Given the description of an element on the screen output the (x, y) to click on. 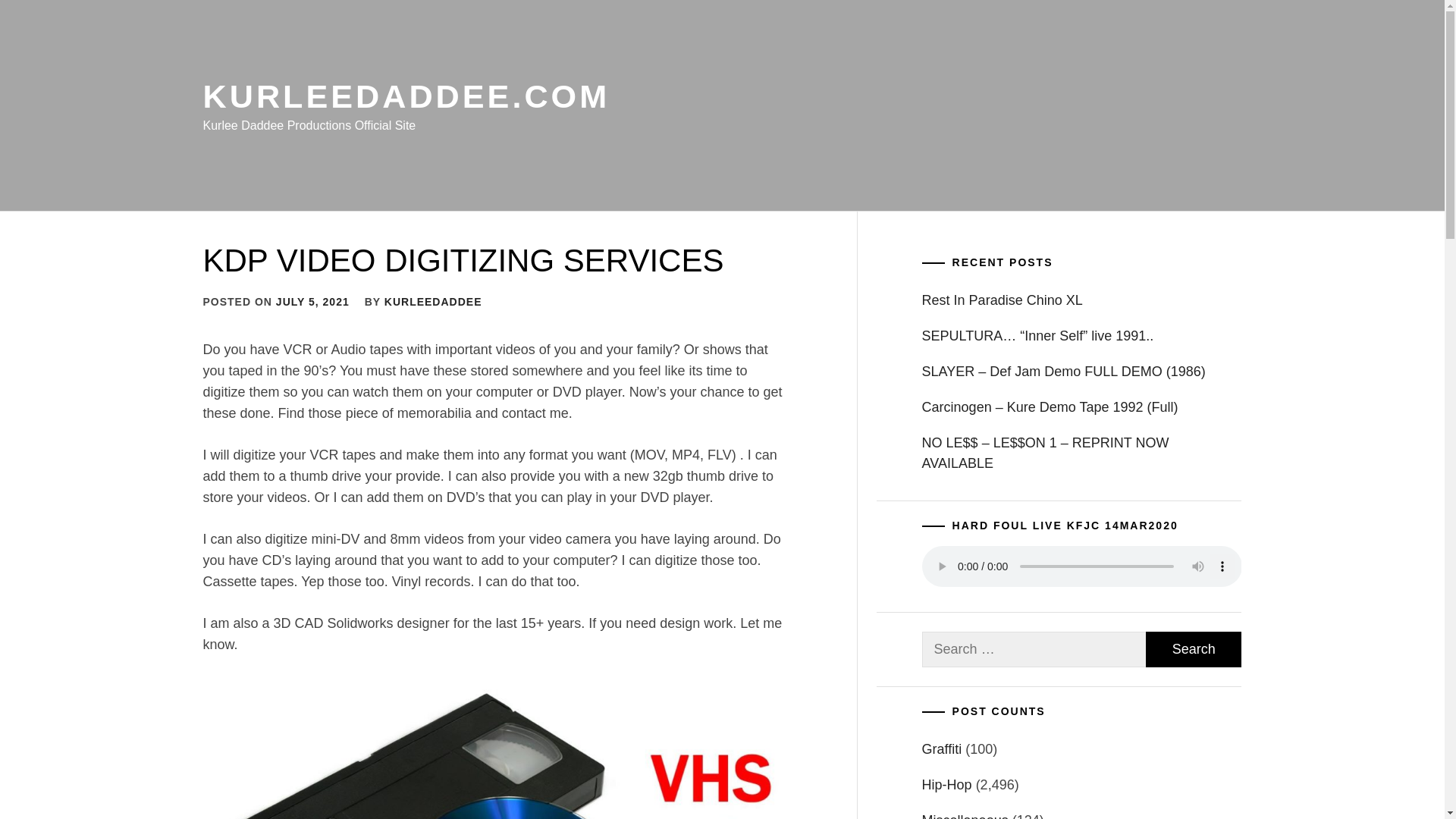
Rest In Paradise Chino XL (1081, 300)
KURLEEDADDEE (432, 301)
KURLEEDADDEE.COM (406, 95)
Search (1193, 649)
Hip-Hop (946, 784)
Search (1193, 649)
Graffiti (941, 749)
JULY 5, 2021 (312, 301)
Search (1193, 649)
Miscellaneous (965, 816)
Search (797, 409)
